Given the description of an element on the screen output the (x, y) to click on. 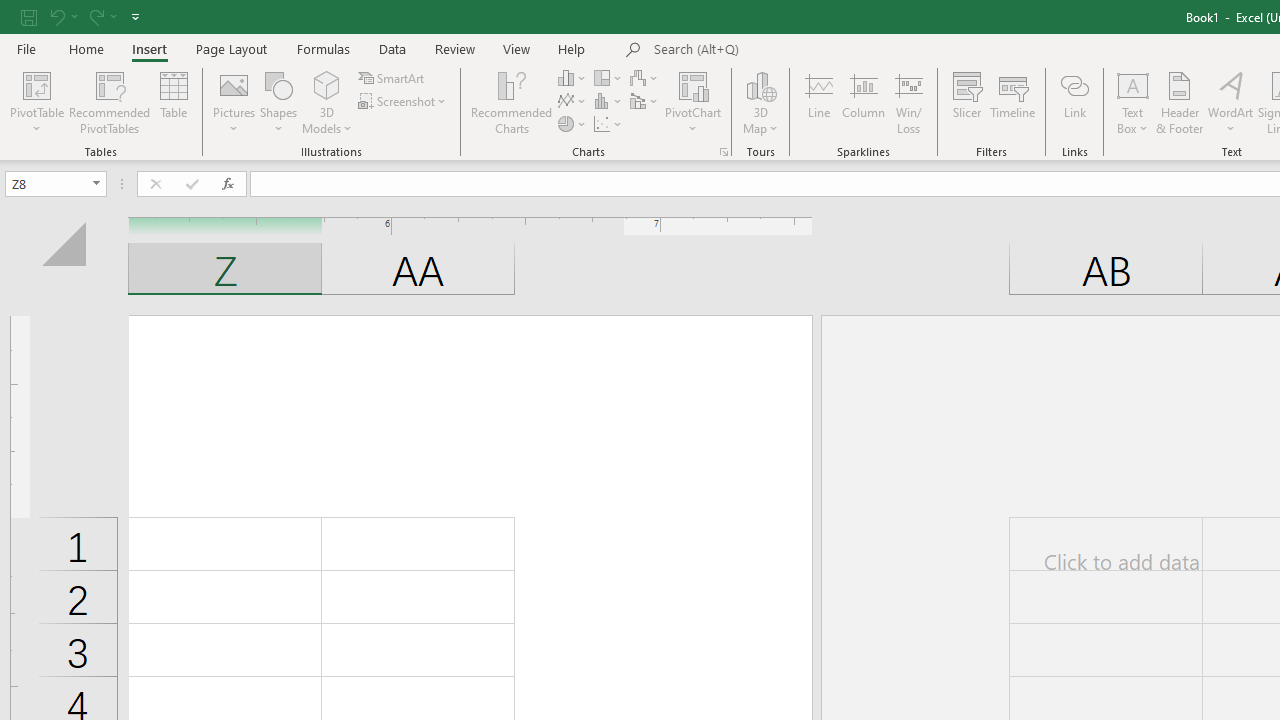
Slicer... (966, 102)
Insert Waterfall, Funnel, Stock, Surface, or Radar Chart (645, 78)
Table (173, 102)
WordArt (1230, 102)
Column (863, 102)
Insert Statistic Chart (609, 101)
